Given the description of an element on the screen output the (x, y) to click on. 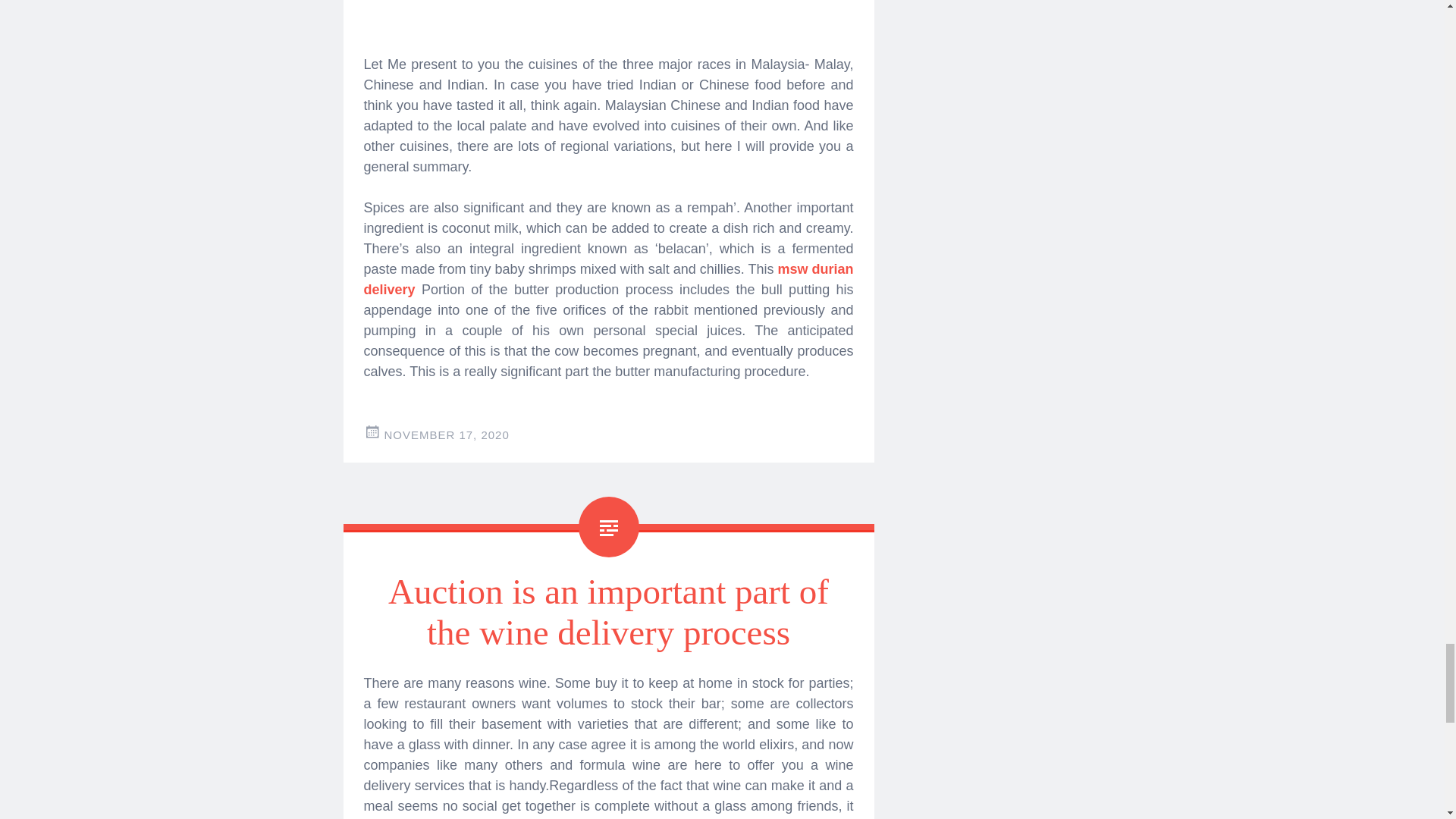
10:10 am (446, 434)
